Given the description of an element on the screen output the (x, y) to click on. 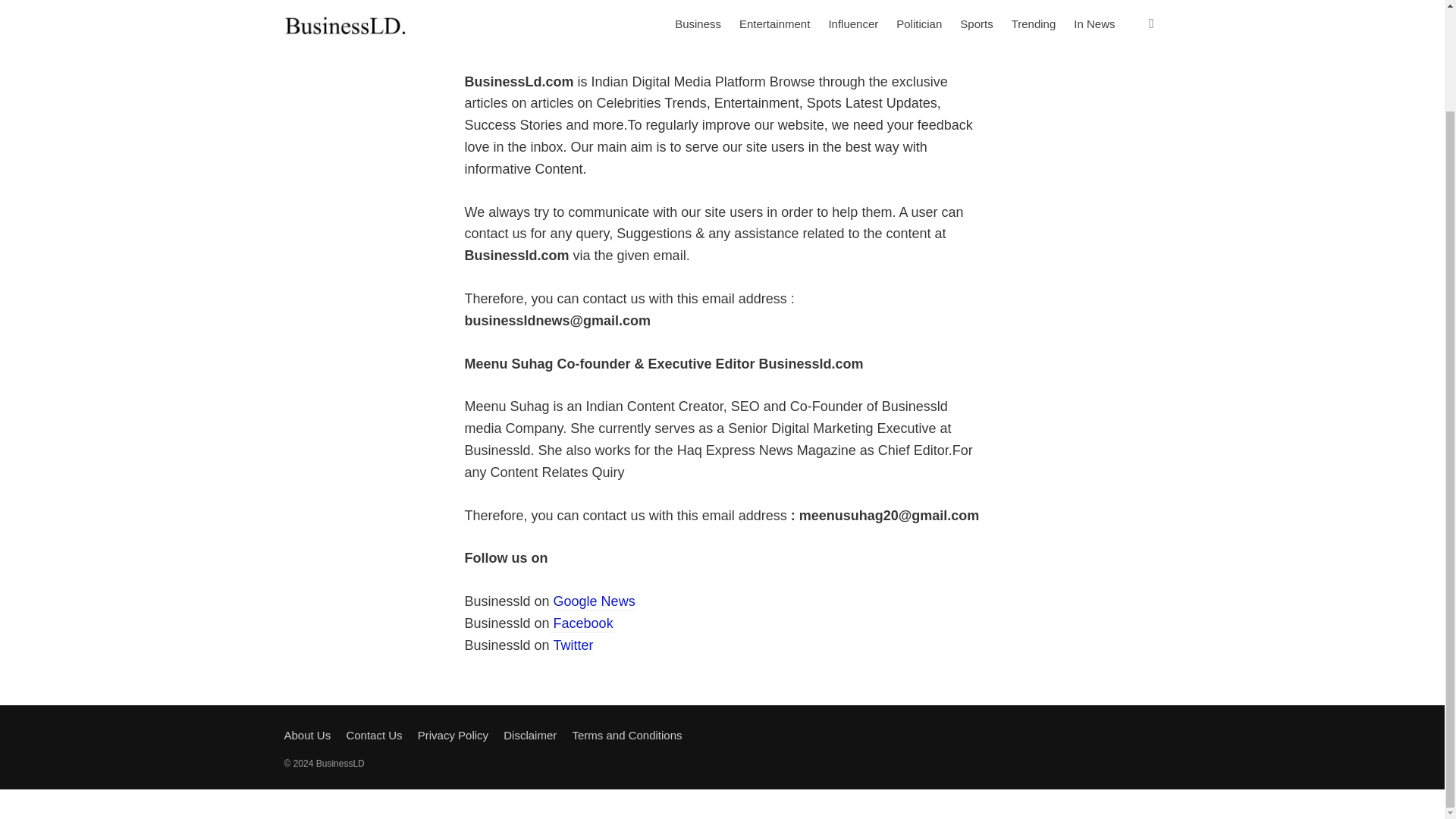
About Us (306, 735)
Terms and Conditions (626, 735)
Privacy Policy (452, 735)
Facebook (581, 624)
Twitter (573, 646)
Google News (593, 601)
Disclaimer (529, 735)
Contact Us (373, 735)
